Given the description of an element on the screen output the (x, y) to click on. 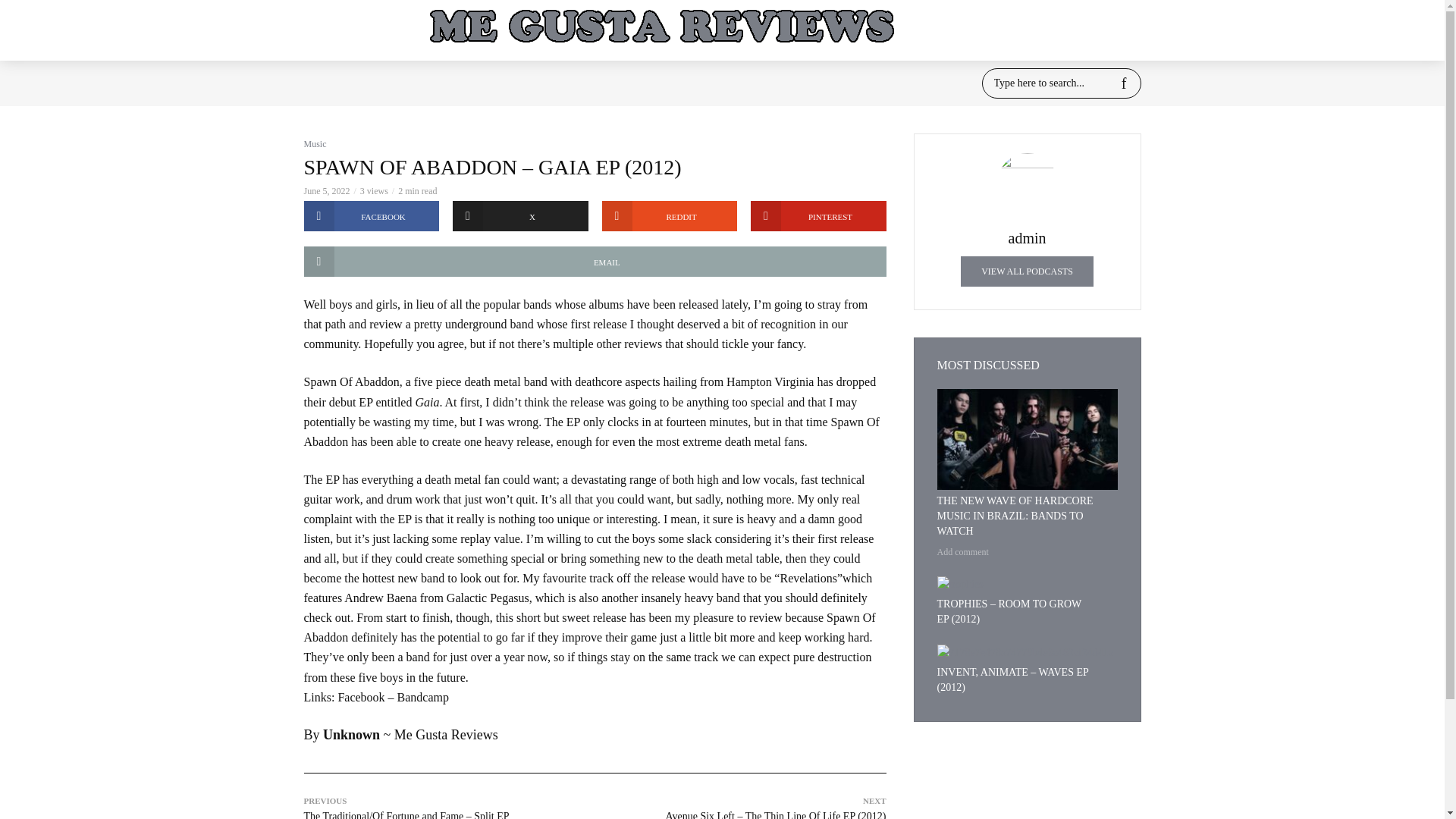
FACEBOOK (370, 215)
Music (314, 143)
The New Wave of Hardcore Music in Brazil: Bands to Watch (1027, 439)
